Given the description of an element on the screen output the (x, y) to click on. 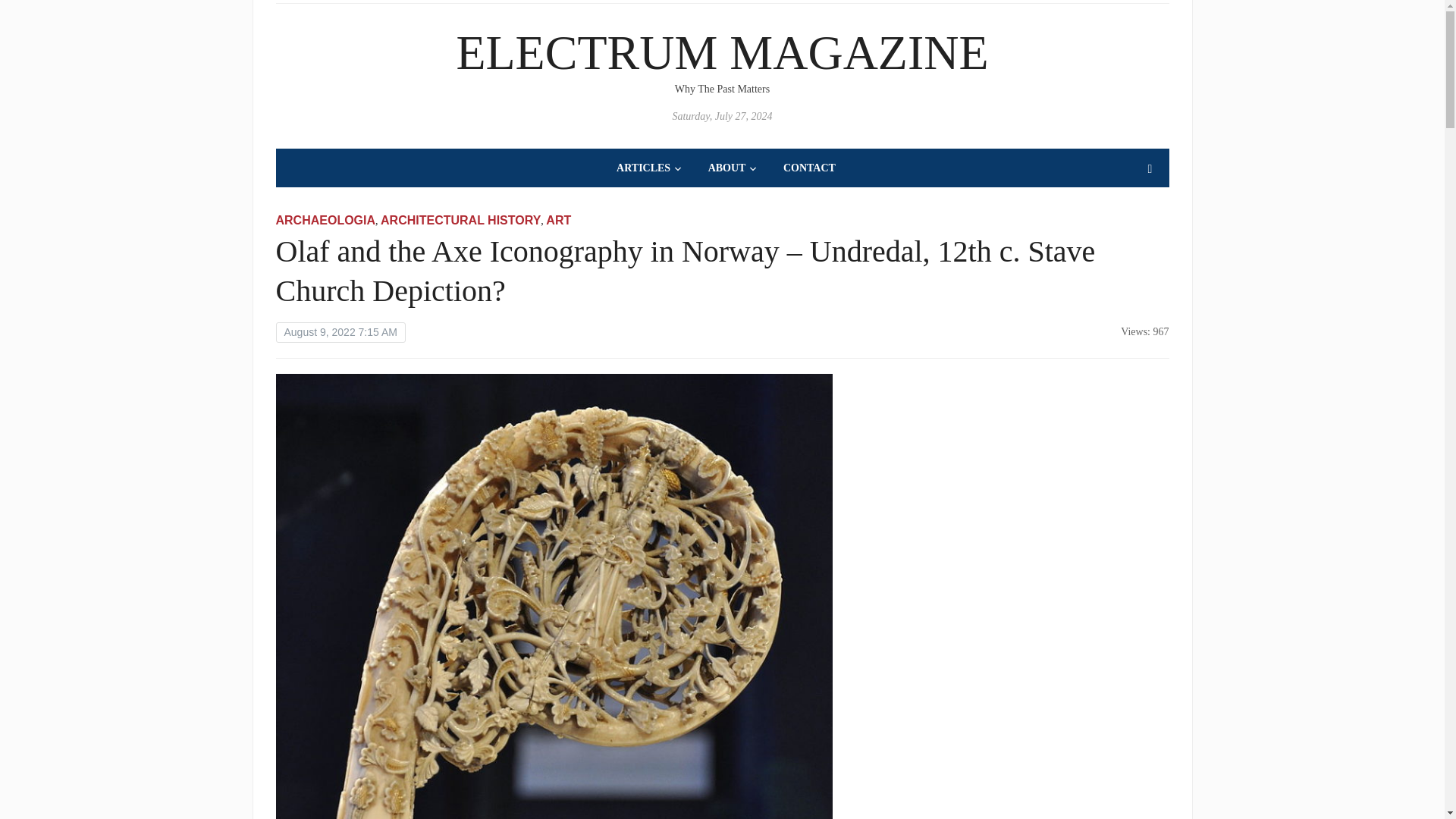
ELECTRUM MAGAZINE (721, 52)
ARTICLES (648, 167)
Search (1149, 168)
ABOUT (732, 167)
Why The Past Matters (721, 52)
